Given the description of an element on the screen output the (x, y) to click on. 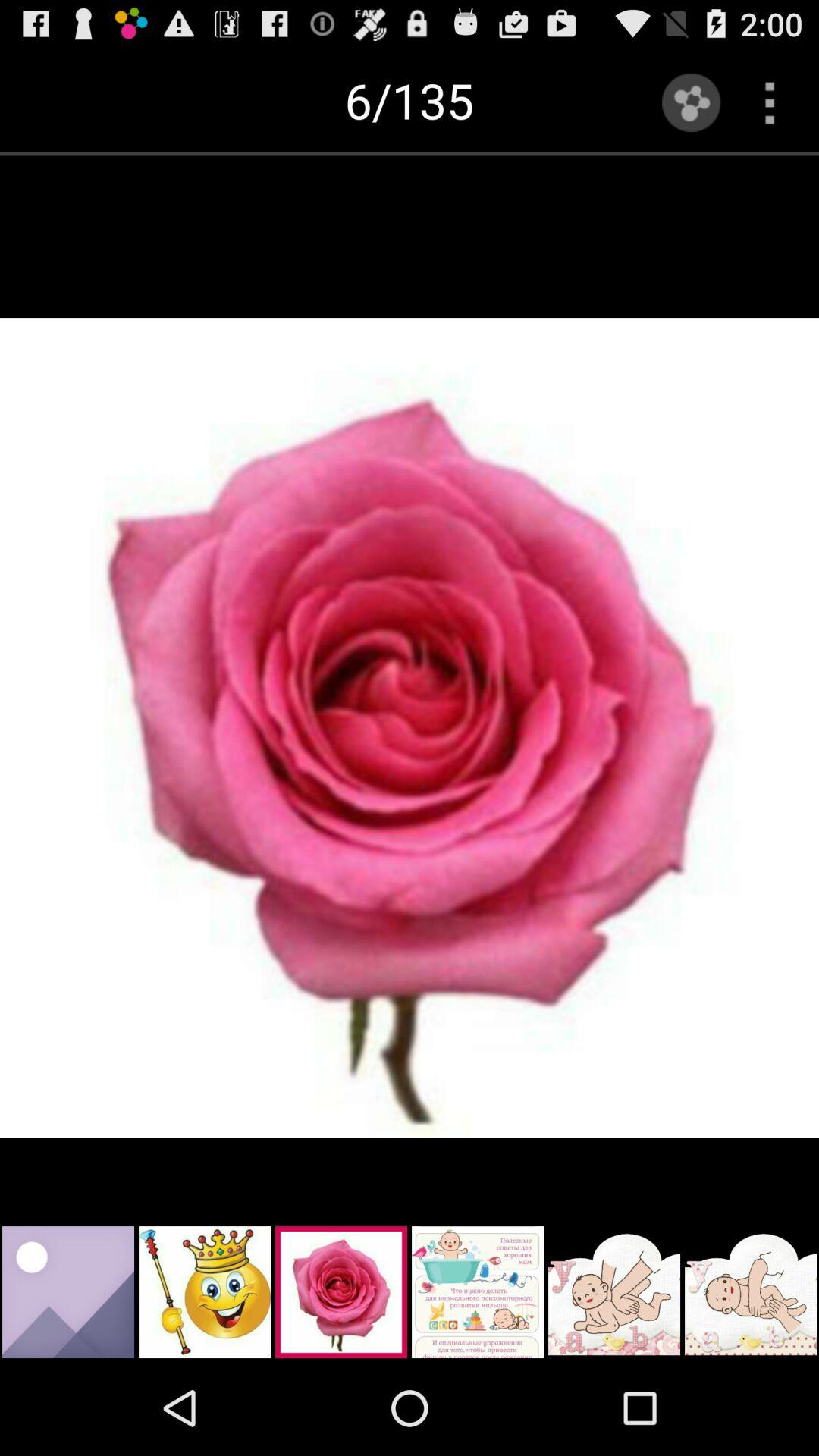
option (769, 102)
